Given the description of an element on the screen output the (x, y) to click on. 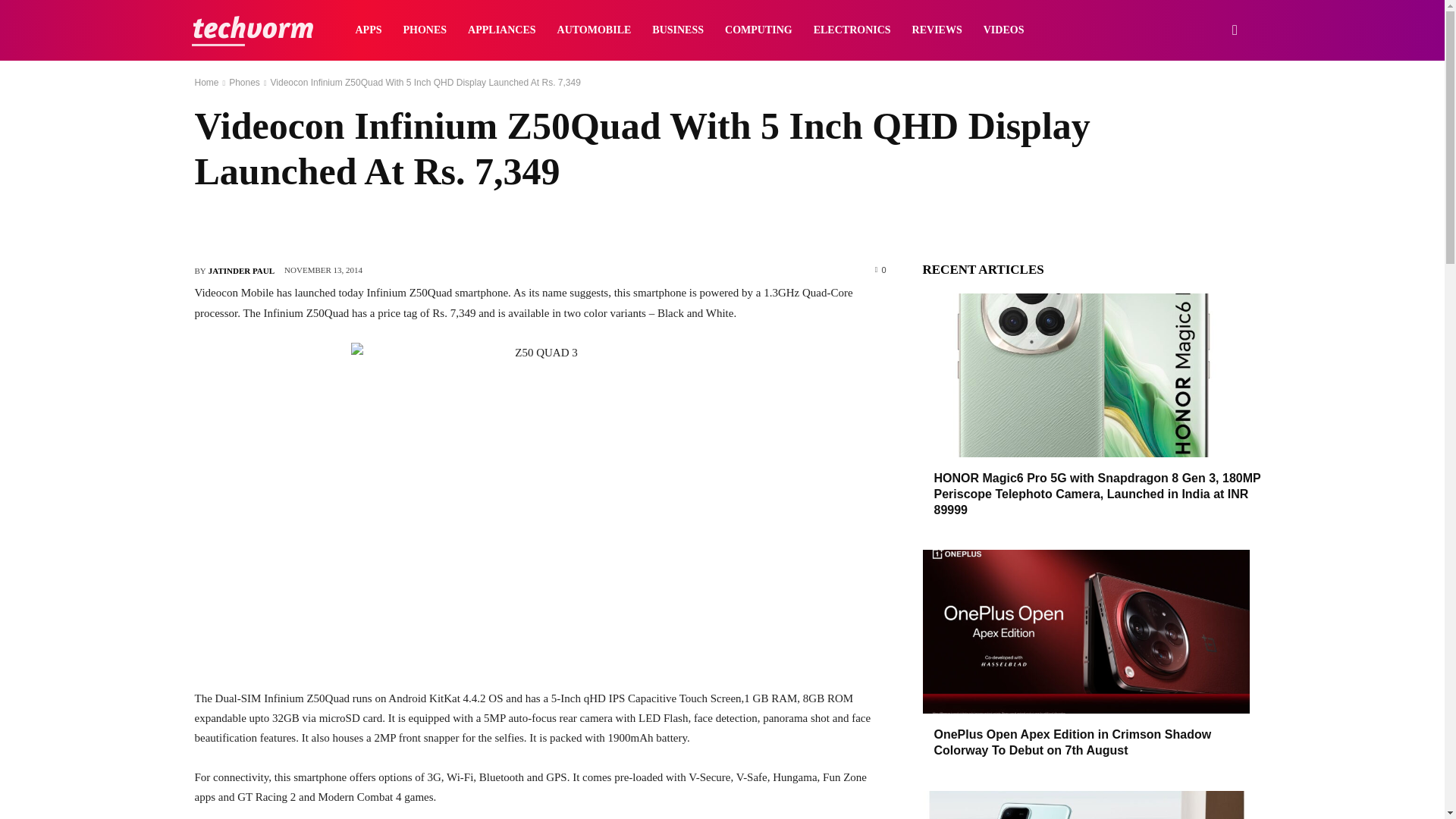
APPLIANCES (501, 30)
JATINDER PAUL (241, 270)
ELECTRONICS (852, 30)
Technology news, as it happens! (251, 30)
AUTOMOBILE (594, 30)
VIDEOS (1003, 30)
0 (880, 268)
COMPUTING (758, 30)
BUSINESS (678, 30)
Phones (244, 81)
PHONES (425, 30)
TechVorm (251, 30)
Home (205, 81)
Search (1210, 102)
View all posts in Phones (244, 81)
